Given the description of an element on the screen output the (x, y) to click on. 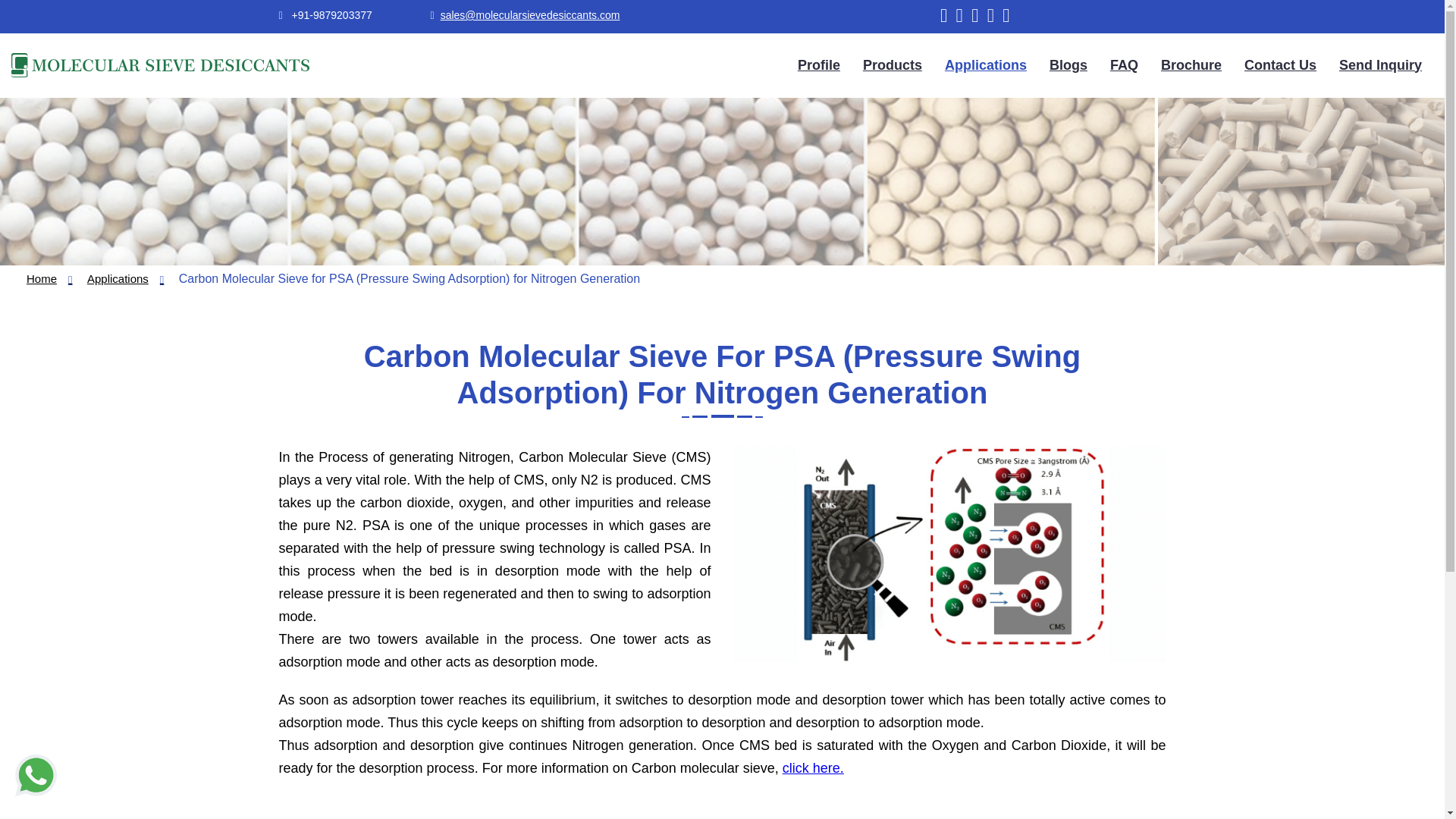
click here. (813, 767)
Products (892, 65)
Contact Us (1280, 65)
Home (49, 278)
Send Inquiry (1380, 65)
Applications (125, 278)
Applications (985, 65)
Brochure (1190, 65)
Go to Home Page (49, 278)
